Given the description of an element on the screen output the (x, y) to click on. 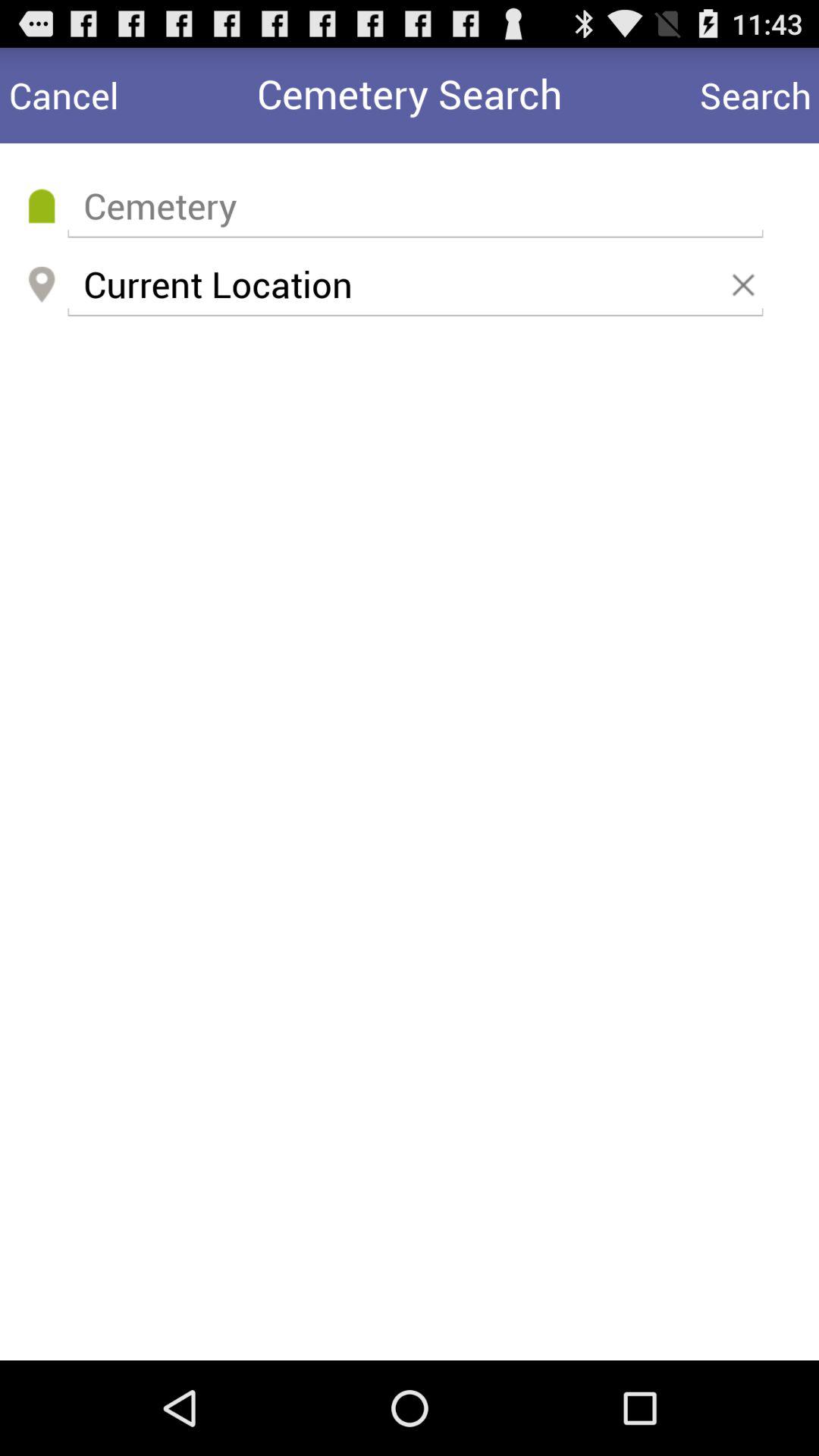
jump to cancel button (63, 95)
